Given the description of an element on the screen output the (x, y) to click on. 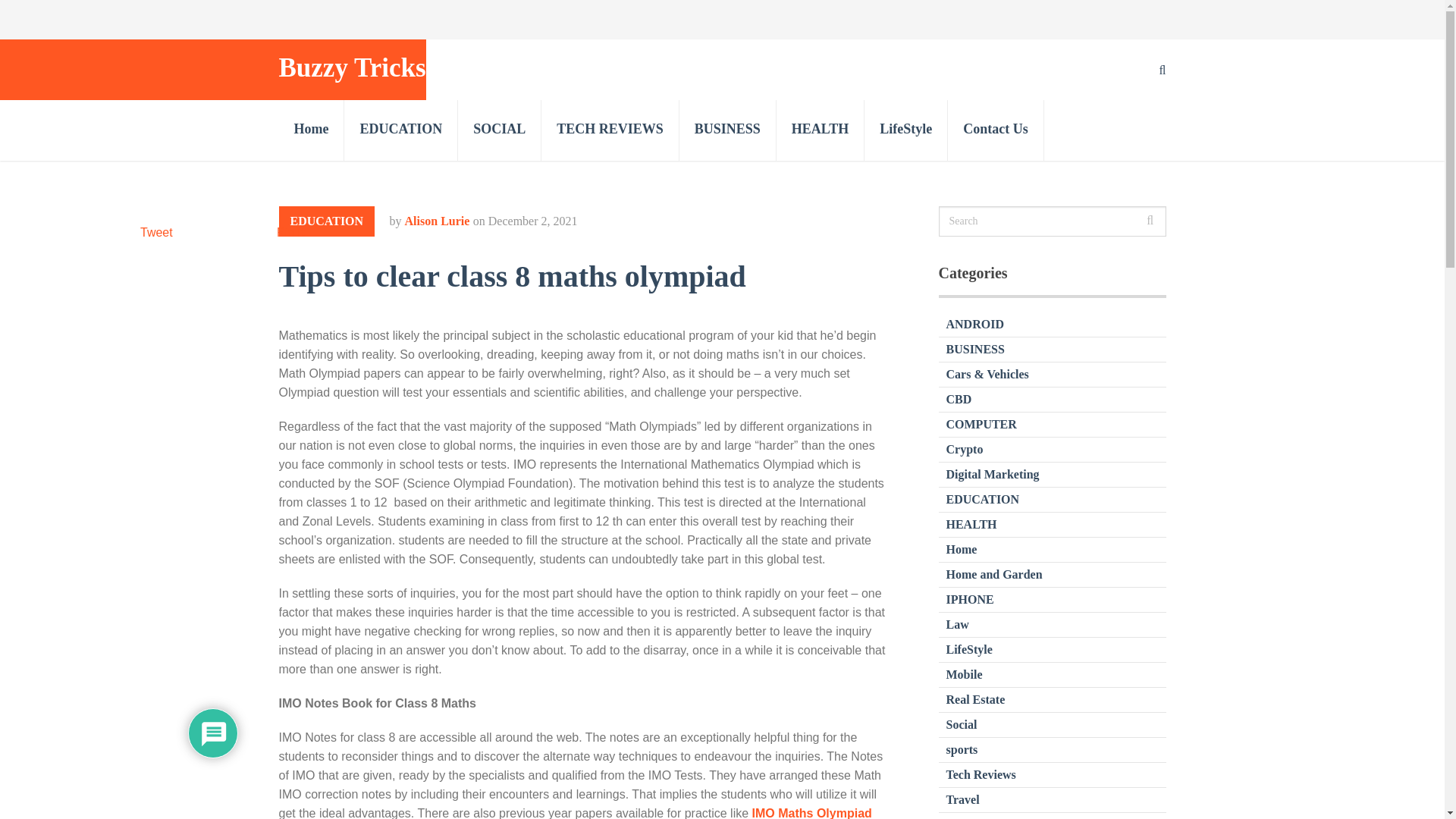
Home and Garden (994, 574)
Home (312, 129)
HEALTH (971, 523)
LifeStyle (905, 129)
TECH REVIEWS (610, 129)
Home (961, 549)
Pin It (290, 232)
Tweet (156, 232)
Alison Lurie (437, 220)
COMPUTER (981, 423)
